Given the description of an element on the screen output the (x, y) to click on. 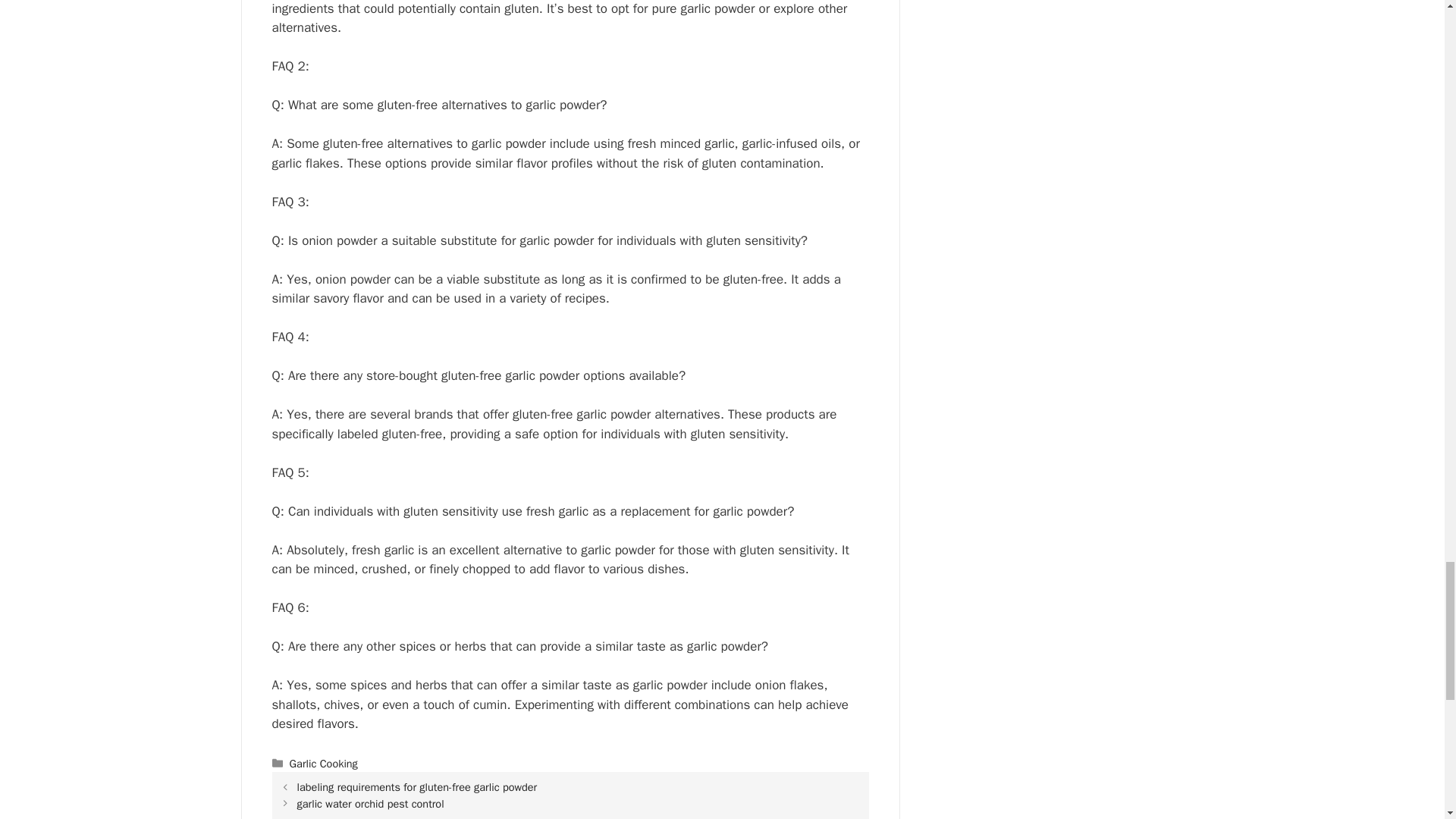
Previous (417, 786)
Garlic Cooking (323, 763)
Next (370, 803)
labeling requirements for gluten-free garlic powder (417, 786)
garlic water orchid pest control (370, 803)
